Given the description of an element on the screen output the (x, y) to click on. 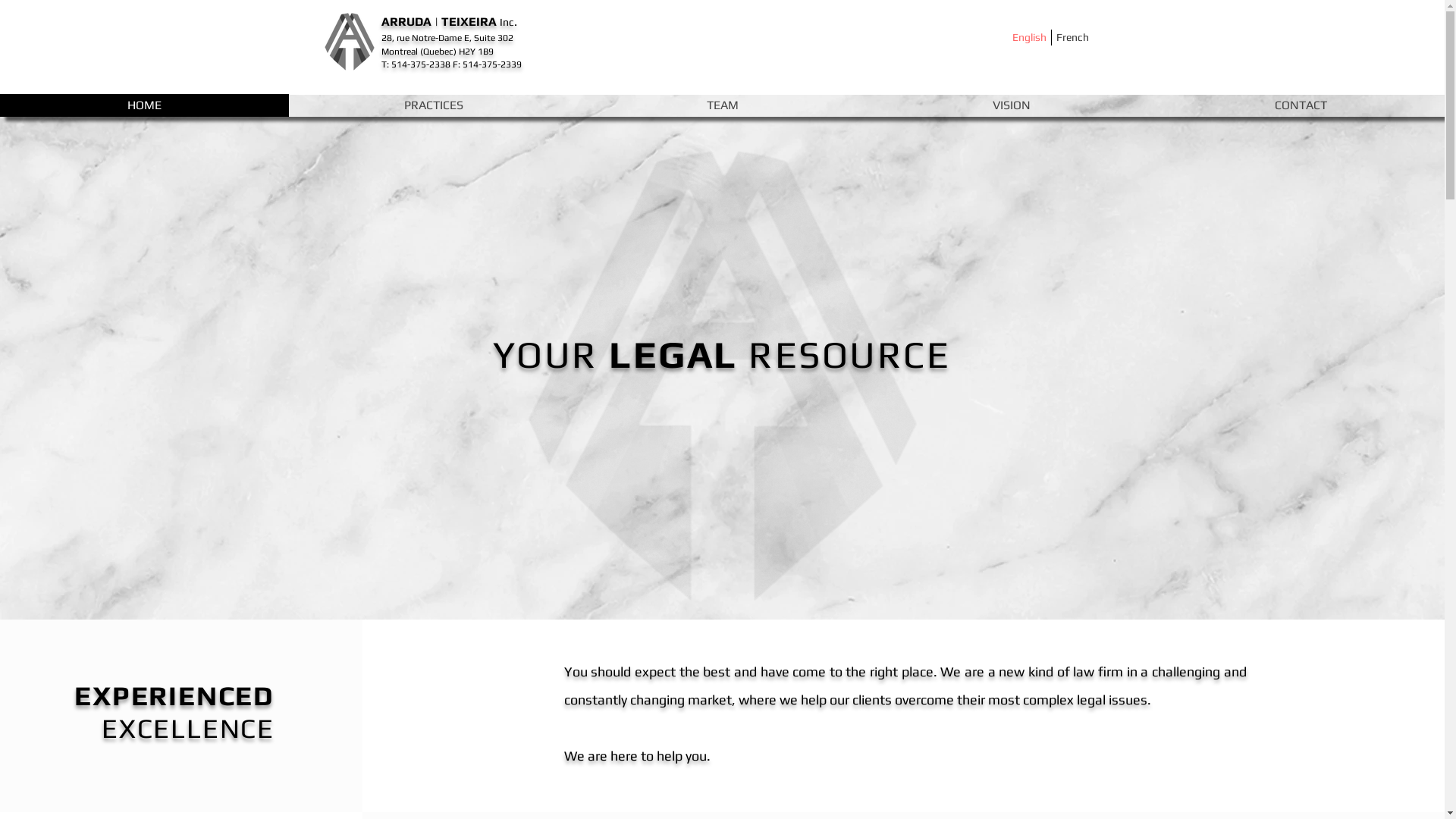
English Element type: text (1029, 37)
TEAM Element type: text (721, 105)
VISION Element type: text (1010, 105)
French Element type: text (1072, 37)
HOME Element type: text (144, 105)
PRACTICES Element type: text (432, 105)
CONTACT Element type: text (1299, 105)
